Given the description of an element on the screen output the (x, y) to click on. 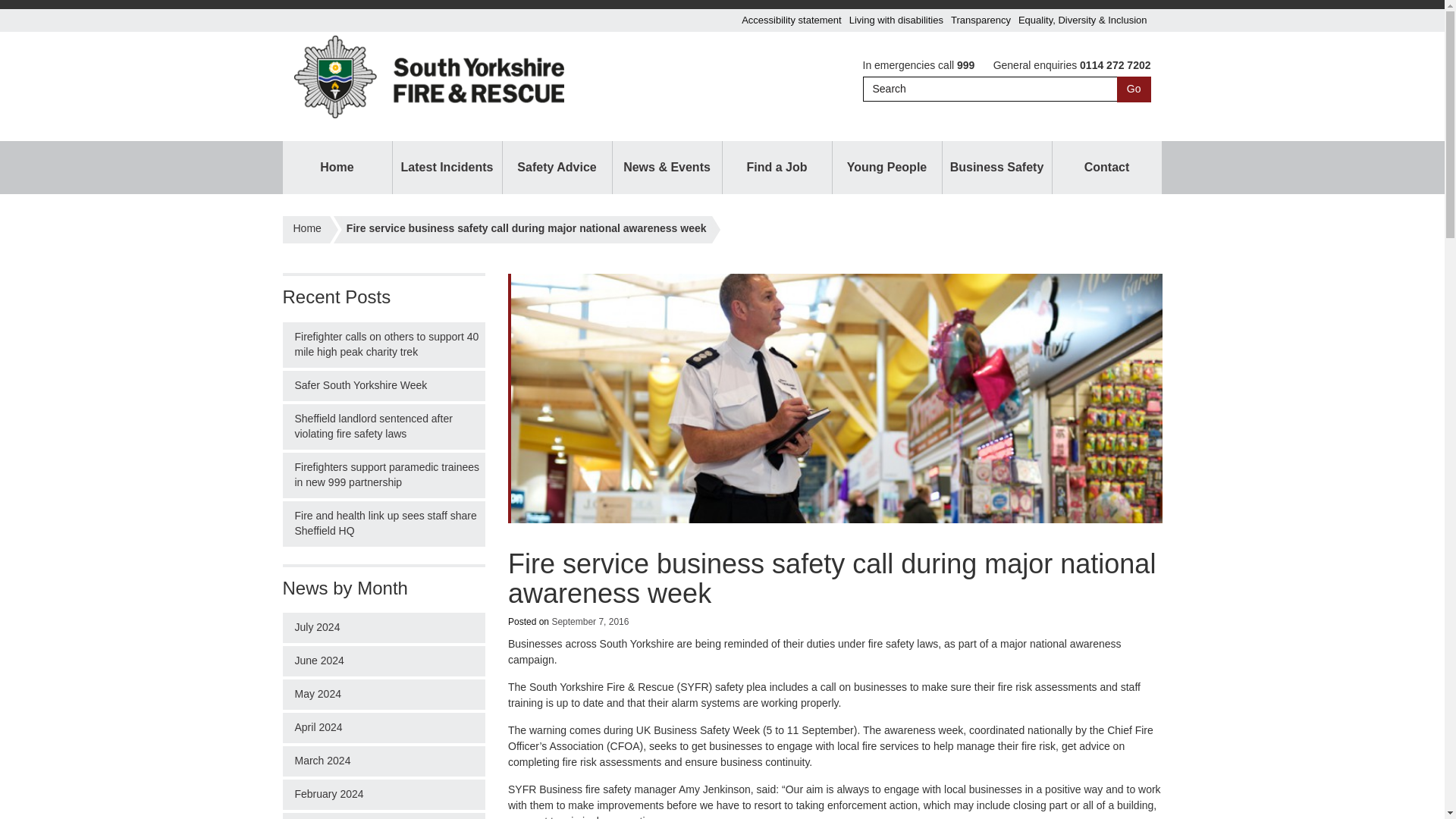
Find a Job (776, 167)
Contact (1106, 167)
Home (306, 234)
January 2024 (383, 816)
Latest Incidents (447, 167)
Safety Advice (556, 167)
Fire and health link up sees staff share Sheffield HQ (383, 524)
May 2024 (383, 694)
Living with disabilities (896, 20)
Go (1133, 89)
South Yorkshire Fire and Rescue (306, 234)
Business Safety (996, 167)
Transparency (980, 20)
Home (336, 167)
Contact (1106, 167)
